Given the description of an element on the screen output the (x, y) to click on. 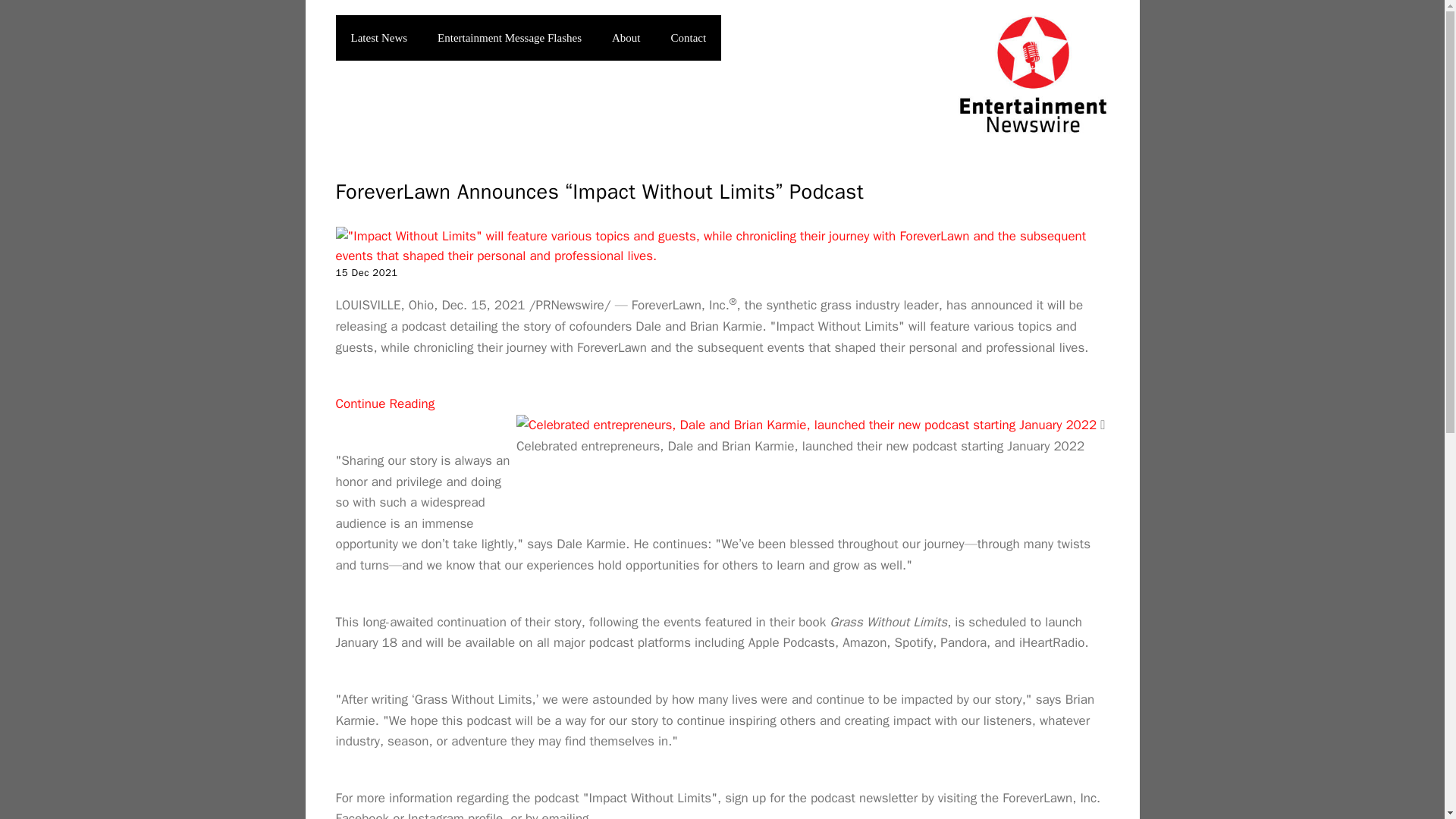
Entertainment Message Flashes (509, 37)
Continue Reading (383, 403)
Latest News (378, 37)
About (626, 37)
Contact (689, 37)
Continue Reading (383, 403)
